Given the description of an element on the screen output the (x, y) to click on. 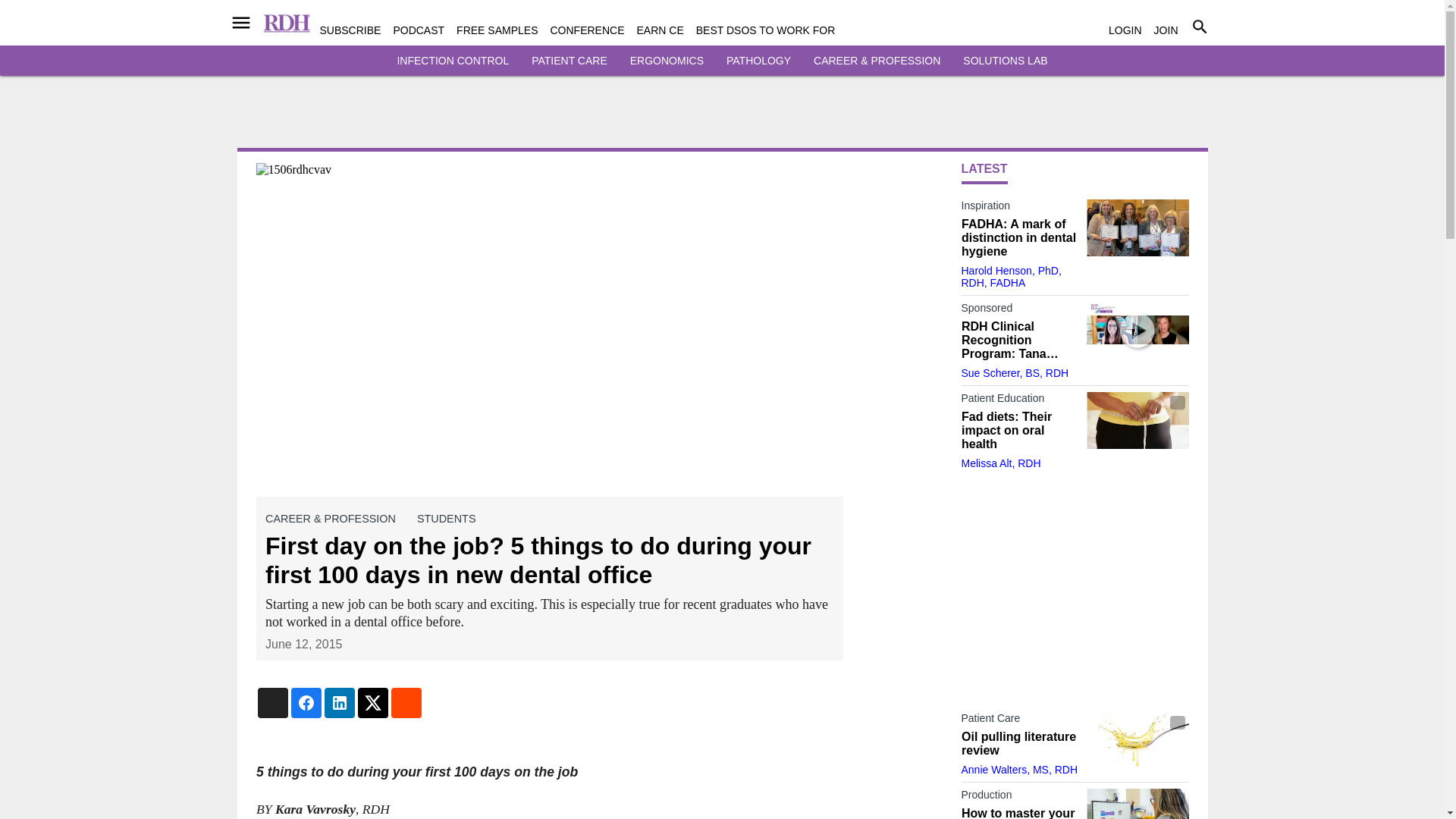
CONFERENCE (587, 30)
PATIENT CARE (569, 60)
BEST DSOS TO WORK FOR (765, 30)
PATHOLOGY (758, 60)
SUBSCRIBE (350, 30)
FREE SAMPLES (497, 30)
SOLUTIONS LAB (1004, 60)
PODCAST (418, 30)
RDH Clinical Recognition Program: Tana Spencer (1137, 330)
